Given the description of an element on the screen output the (x, y) to click on. 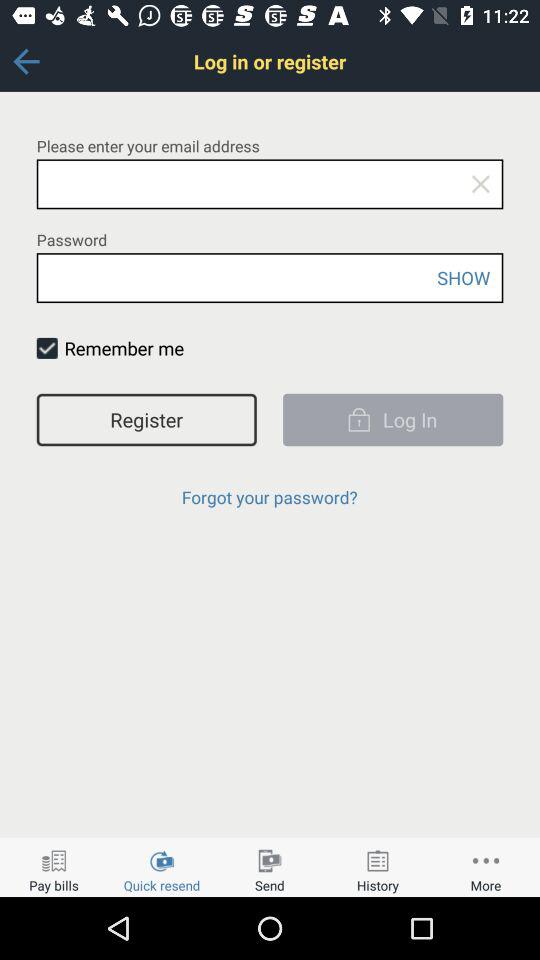
press item below register item (269, 496)
